Given the description of an element on the screen output the (x, y) to click on. 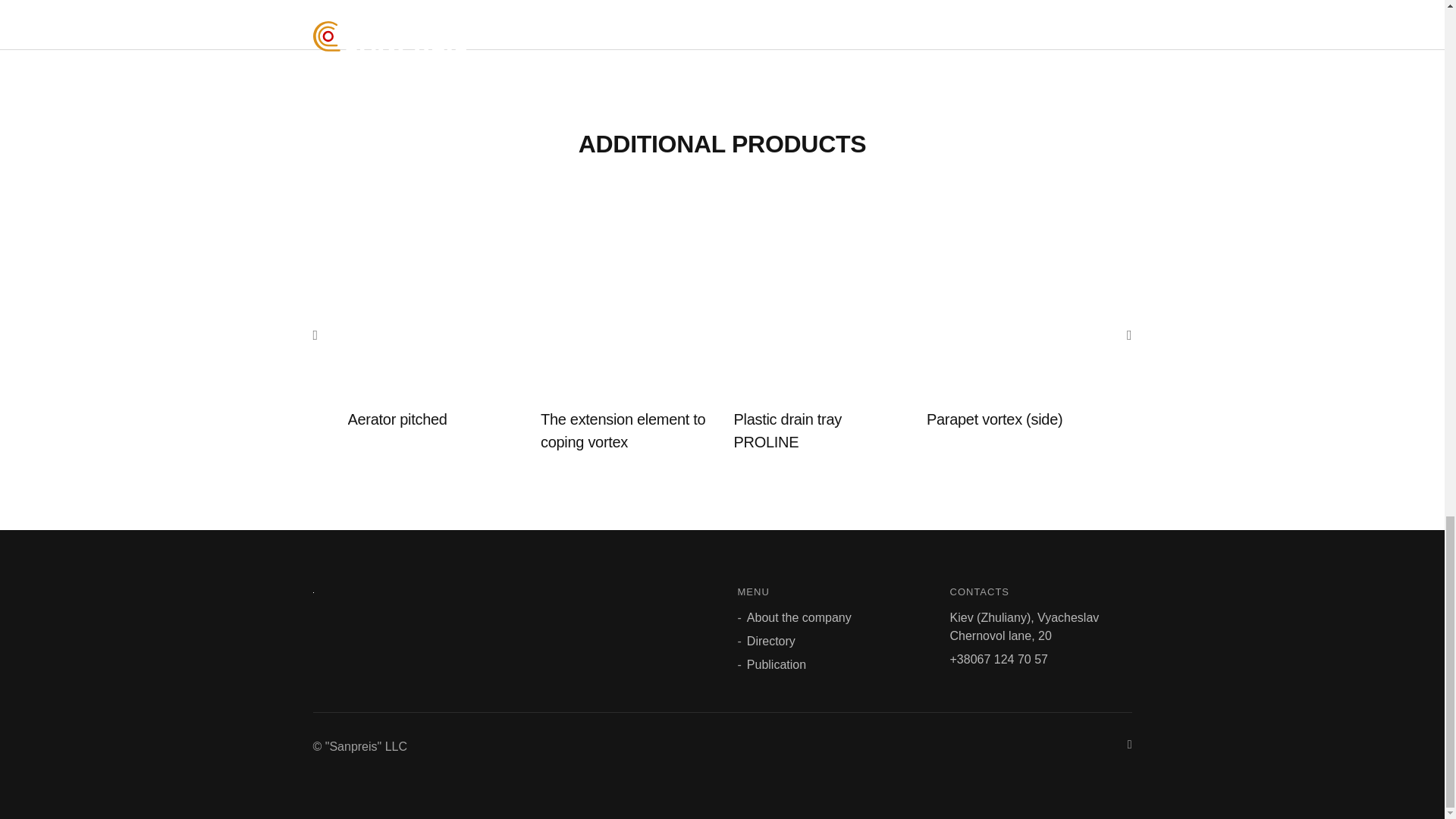
Plastic drain tray PROLINE (787, 430)
Aerator pitched (396, 419)
The extension element to coping vortex (622, 430)
